Given the description of an element on the screen output the (x, y) to click on. 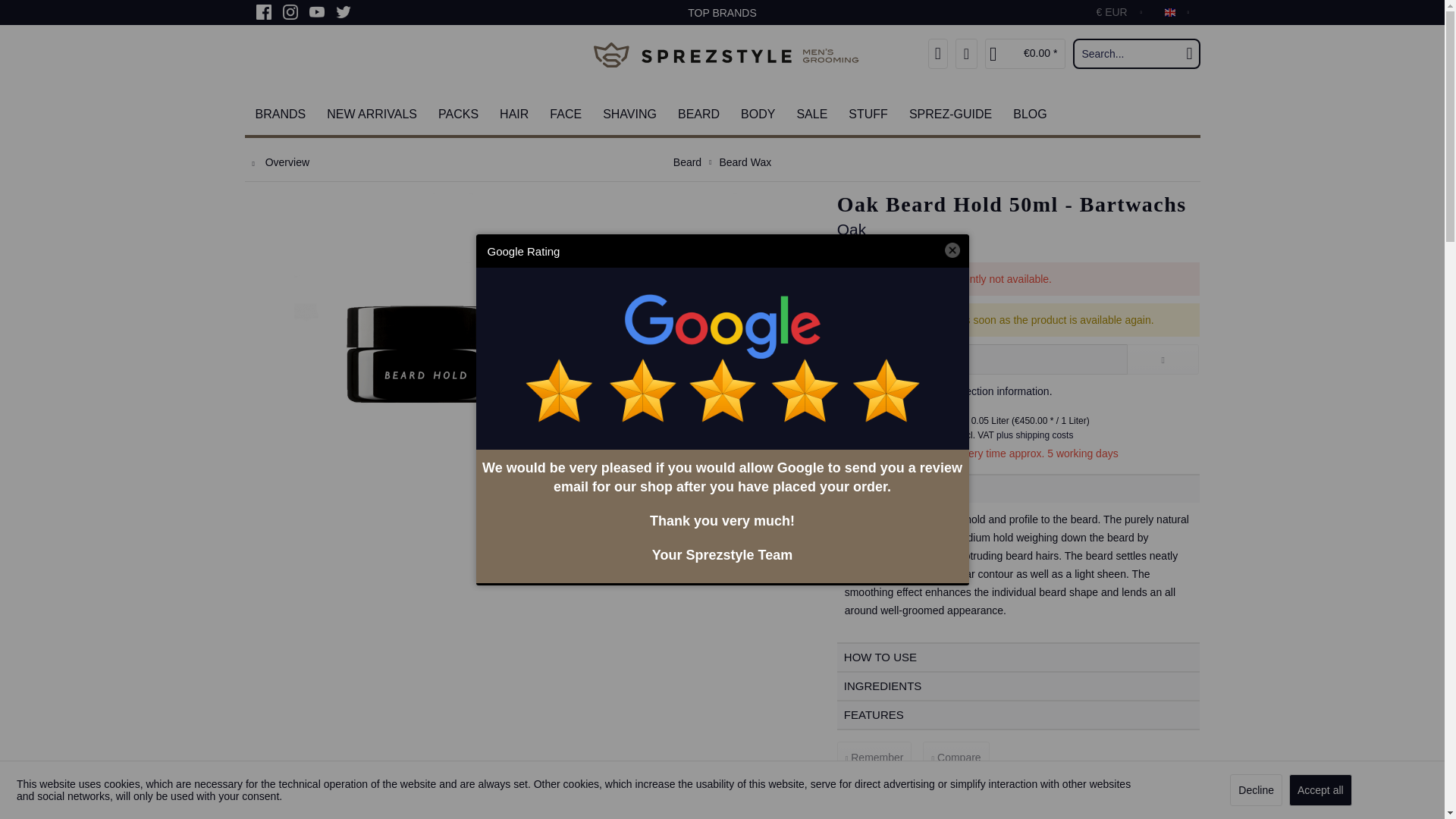
FACE (565, 114)
BRANDS (279, 114)
SHAVING (629, 114)
SPREZ-GUIDE (950, 114)
BLOG (1030, 114)
Facebook (263, 11)
YouTube (316, 11)
NEW ARRIVALS (371, 114)
NEW ARRIVALS (371, 114)
STUFF (868, 114)
SHAVING (629, 114)
Shopping cart (1025, 53)
1 (842, 389)
SALE (812, 114)
